Given the description of an element on the screen output the (x, y) to click on. 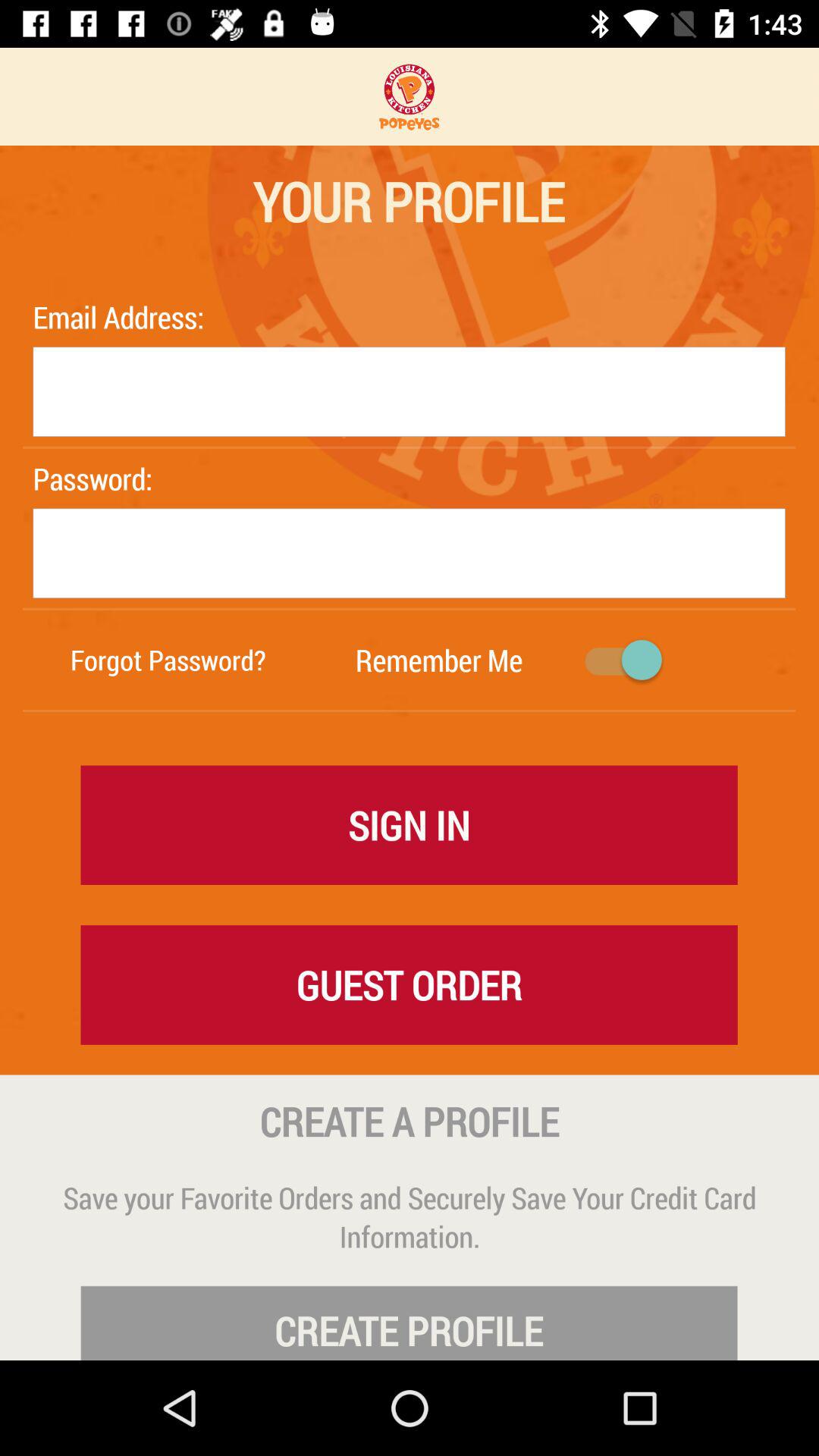
open the guest order icon (409, 984)
